Given the description of an element on the screen output the (x, y) to click on. 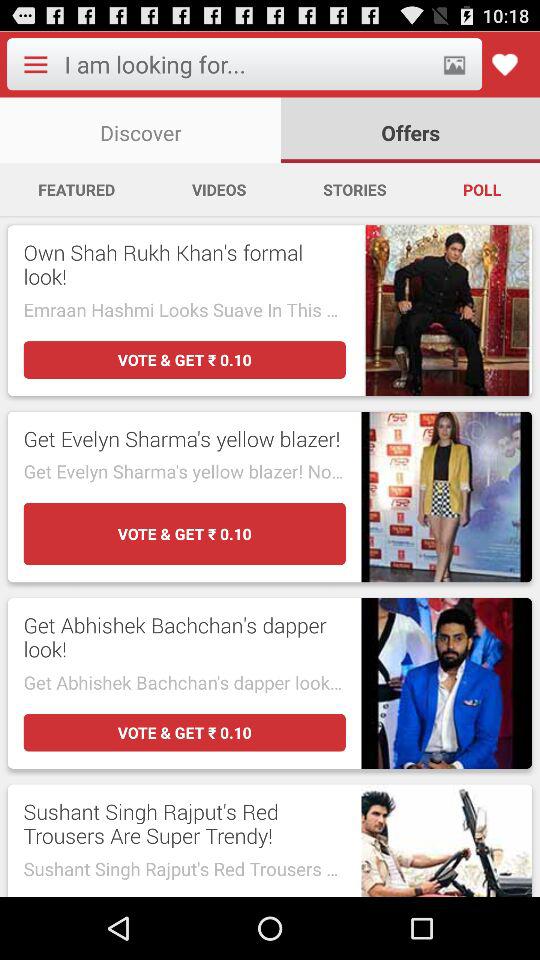
search bar (246, 64)
